Given the description of an element on the screen output the (x, y) to click on. 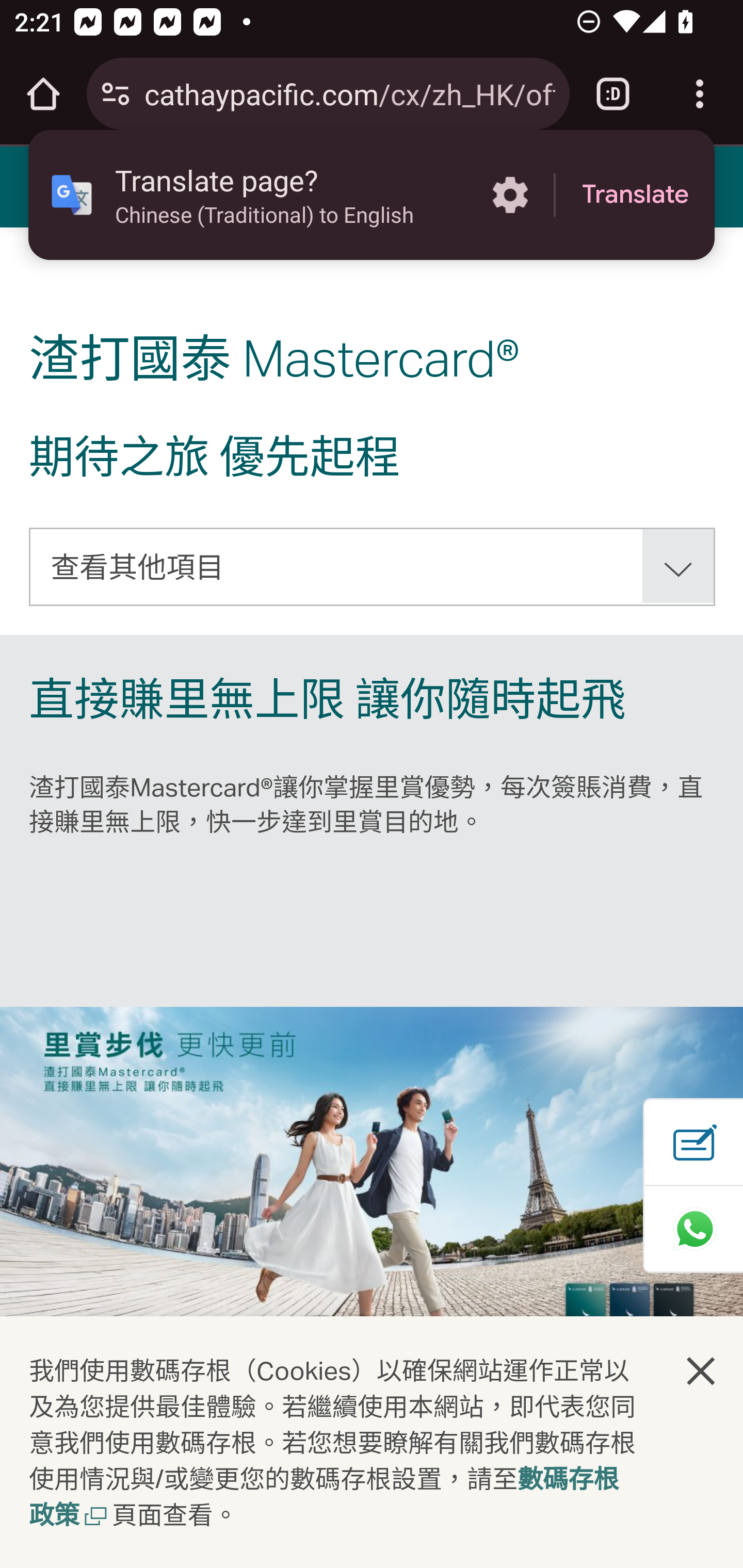
Open the home page (43, 93)
Connection is secure (115, 93)
Switch or close tabs (612, 93)
Customize and control Google Chrome (699, 93)
Translate (634, 195)
功能表 (47, 186)
More options in the Translate page? (509, 195)
查看其他項目 (372, 566)
關閉 (701, 1370)
數碼存根政策, 在新窗口中打开 數碼存根政策 開啟新視窗 (323, 1498)
